Given the description of an element on the screen output the (x, y) to click on. 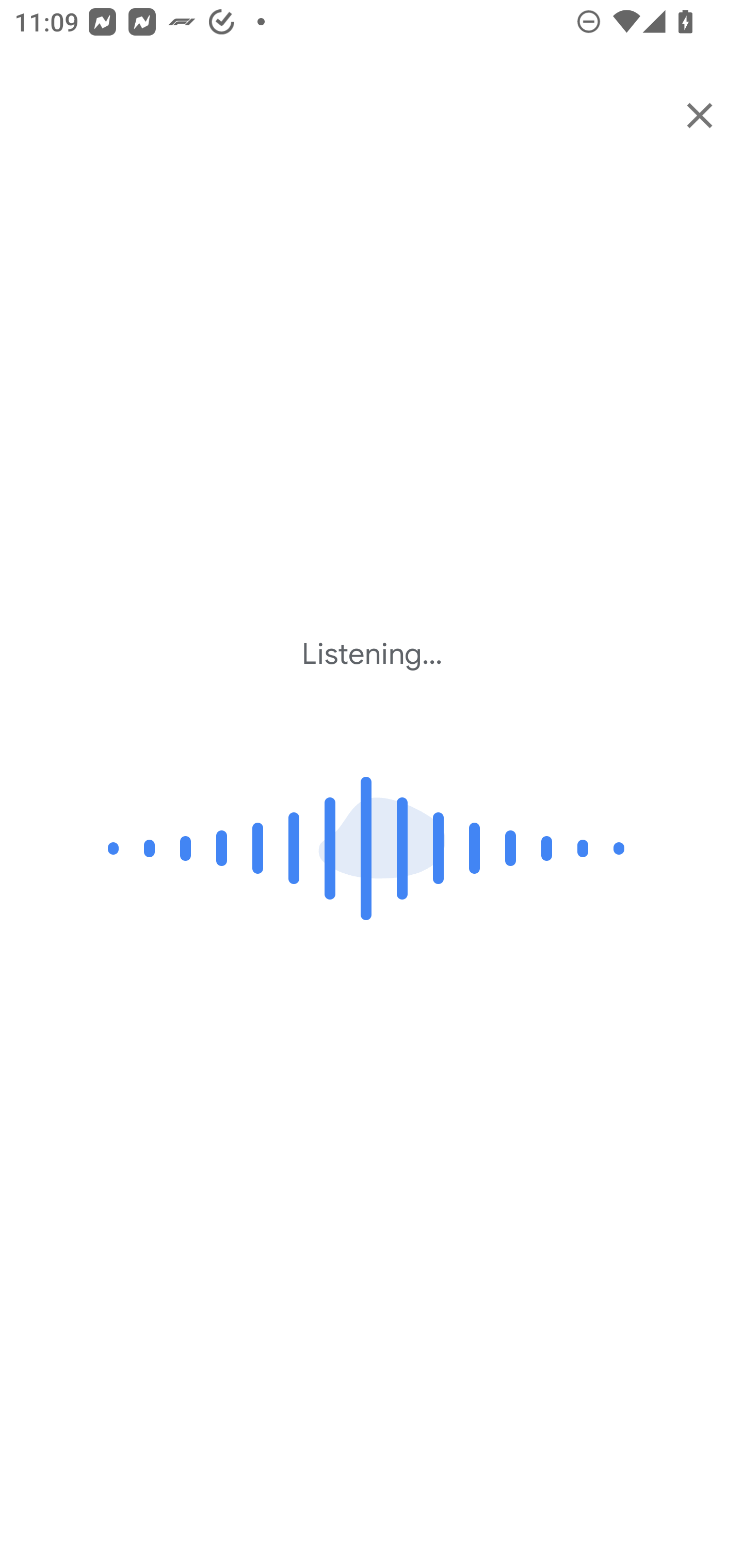
Close (699, 115)
